Given the description of an element on the screen output the (x, y) to click on. 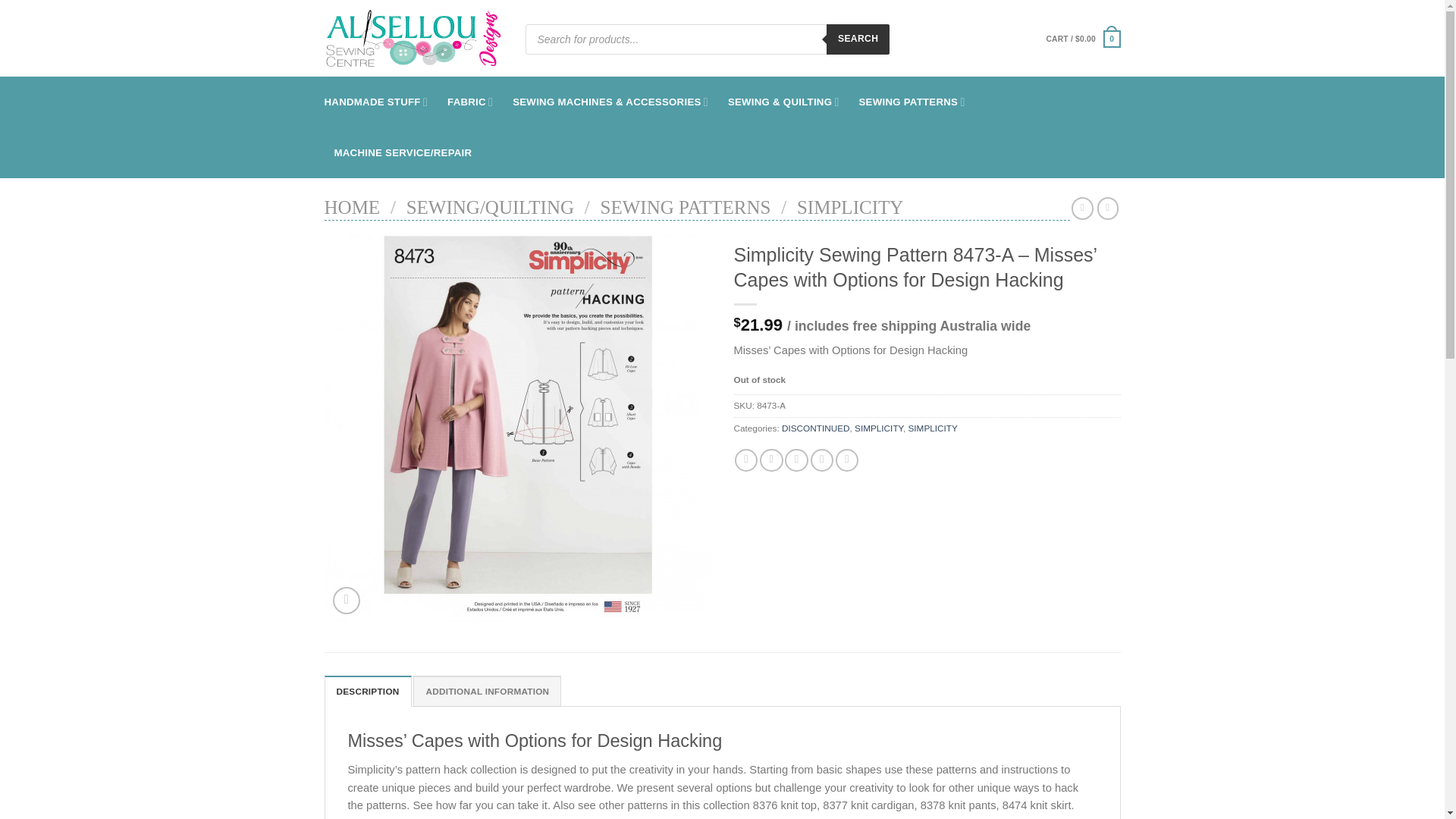
FABRIC (469, 101)
Share on Facebook (746, 460)
Pin on Pinterest (821, 460)
HANDMADE STUFF (376, 101)
SEARCH (858, 39)
Cart (1082, 38)
Zoom (346, 600)
Email to a Friend (796, 460)
Share on LinkedIn (847, 460)
Share on Twitter (771, 460)
